Given the description of an element on the screen output the (x, y) to click on. 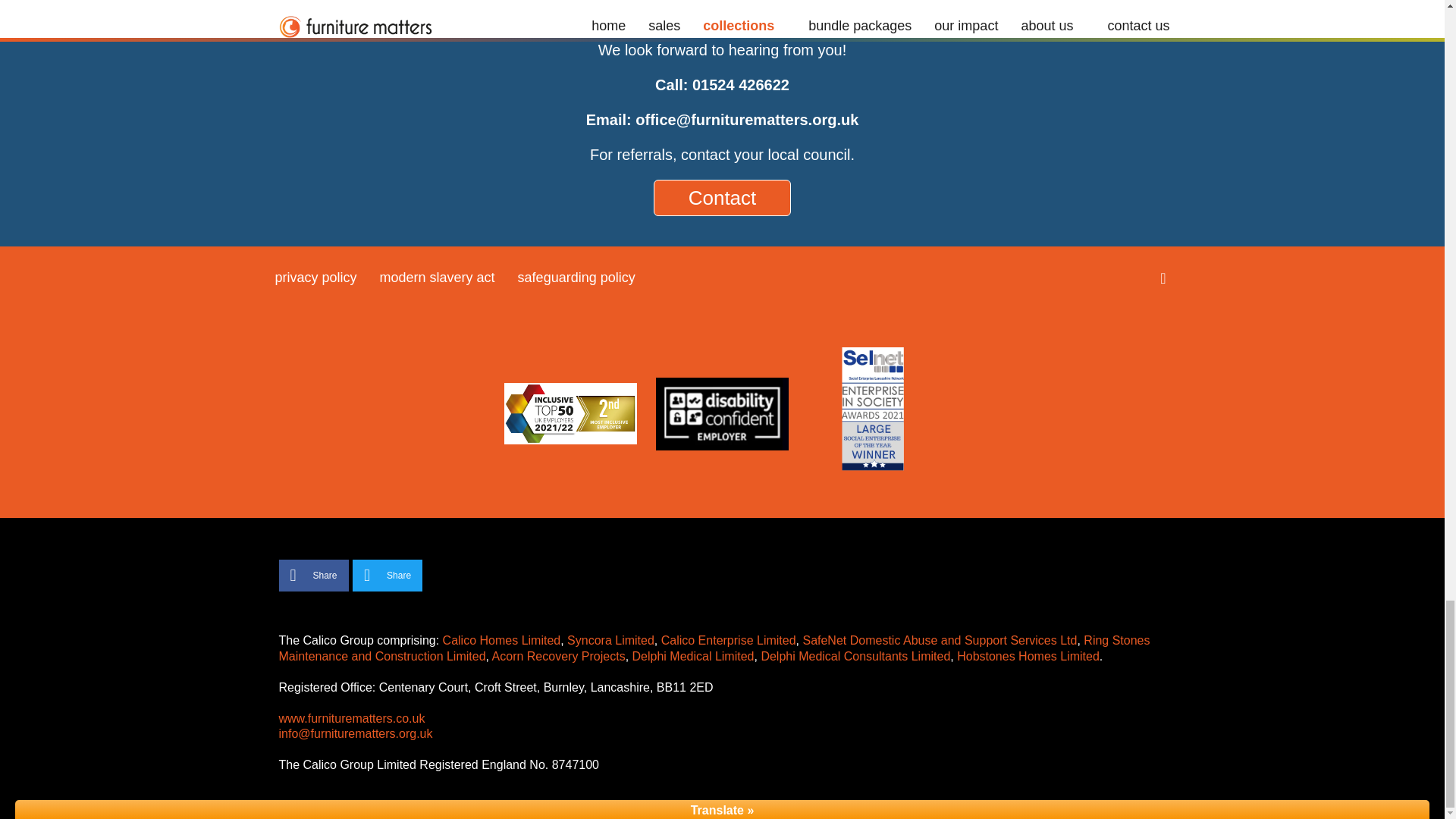
Contact (722, 197)
safeguarding policy (576, 277)
modern slavery act (437, 277)
privacy policy (315, 277)
01524 426622 (741, 84)
Share (314, 575)
